Given the description of an element on the screen output the (x, y) to click on. 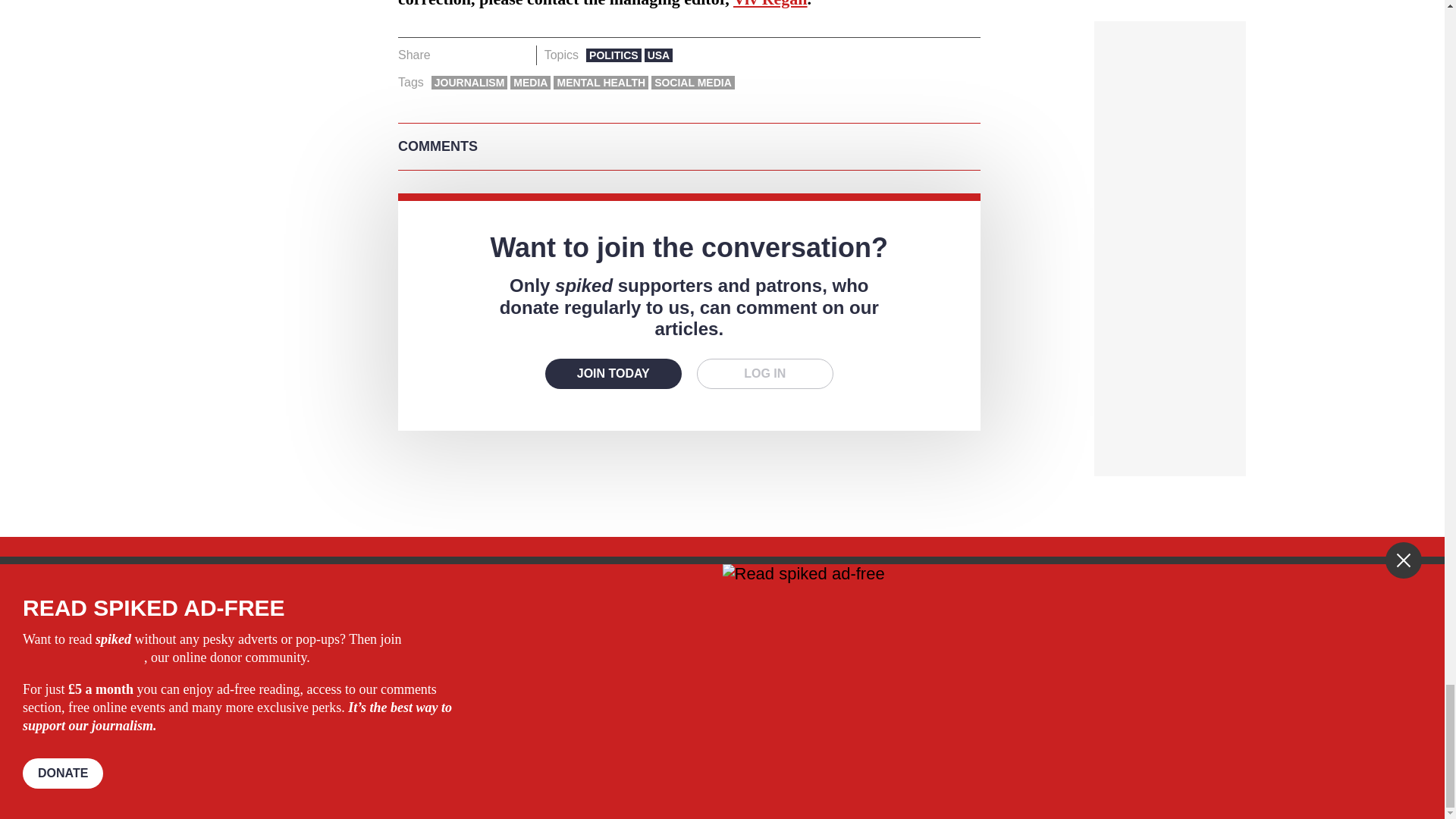
Share on Twitter (471, 55)
Share on Email (518, 55)
Share on Whatsapp (494, 55)
Share on Facebook (448, 55)
